Given the description of an element on the screen output the (x, y) to click on. 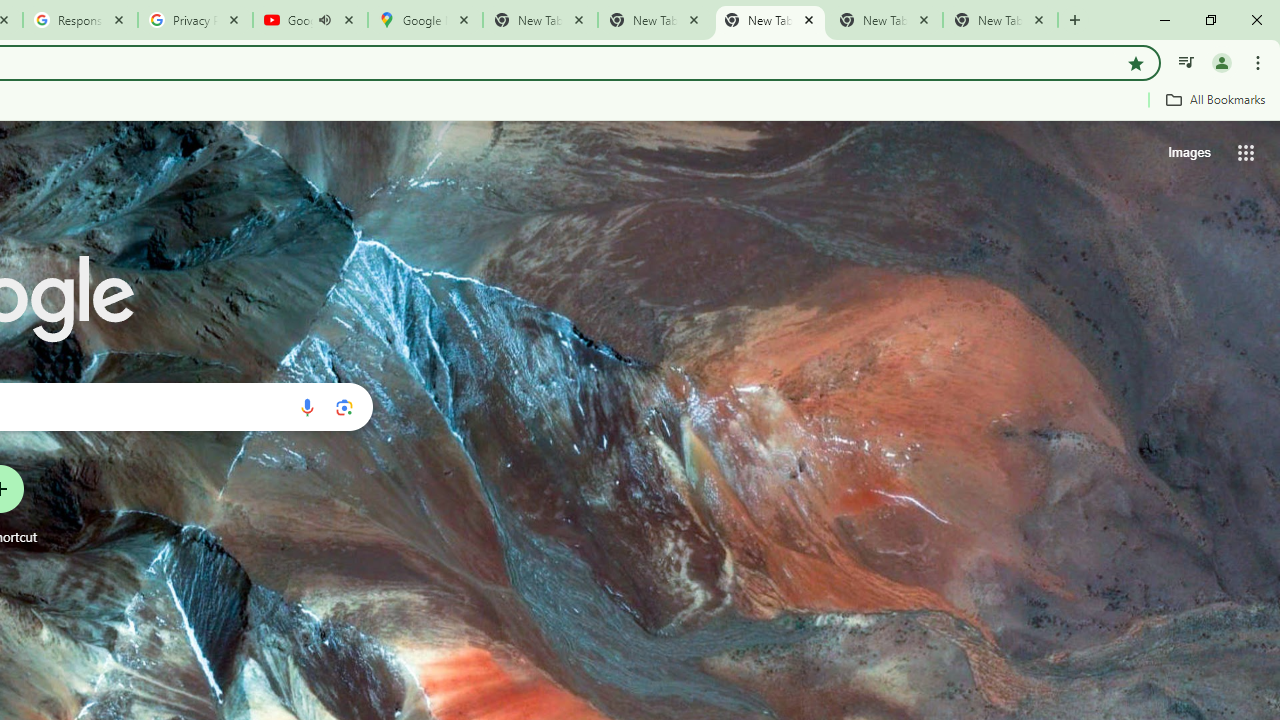
Google Maps (424, 20)
Search for Images  (1188, 152)
Search by image (344, 407)
Mute tab (324, 20)
Search by voice (307, 407)
